Given the description of an element on the screen output the (x, y) to click on. 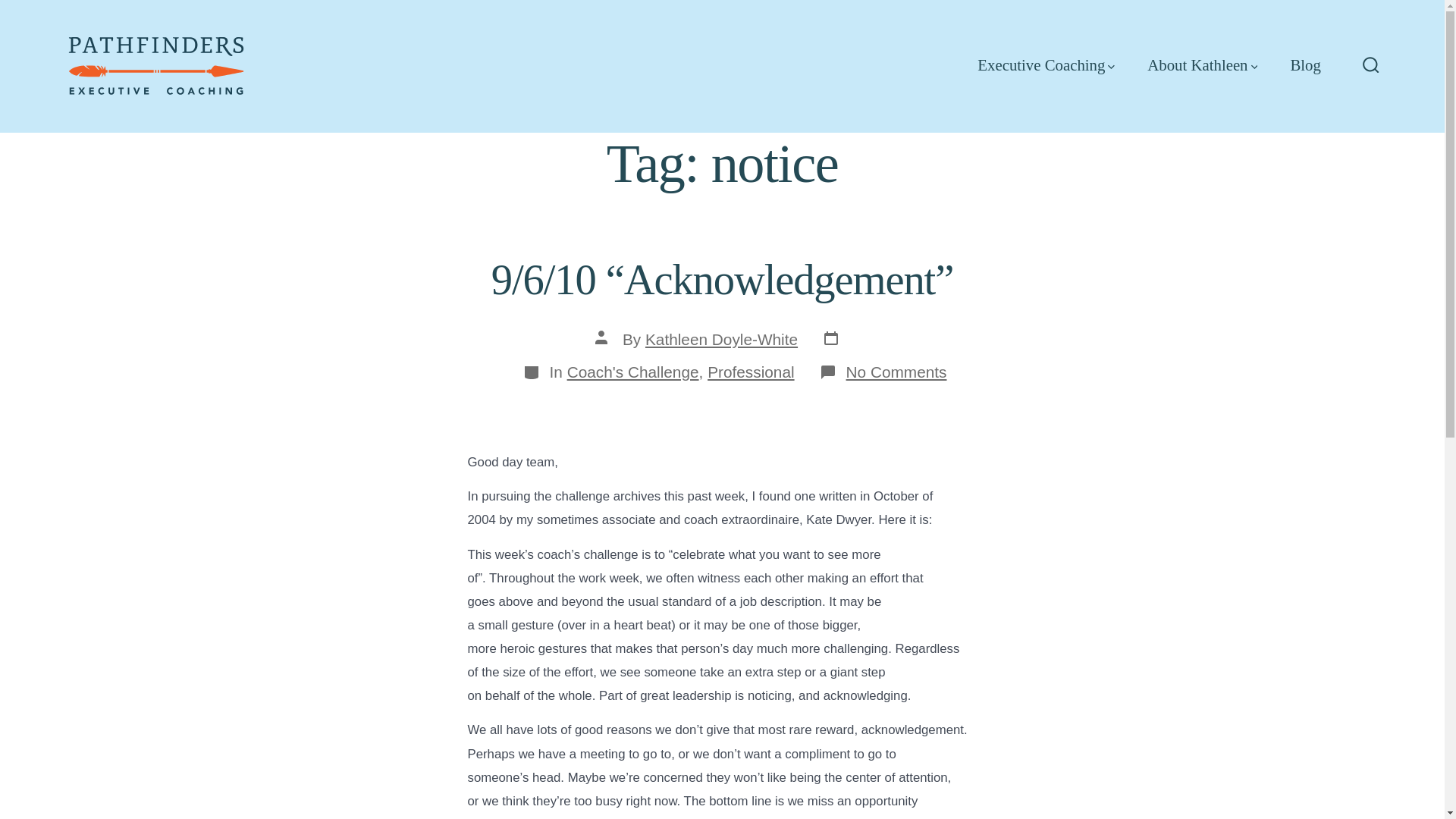
Executive Coaching (1045, 65)
Post date (835, 339)
Coach's Challenge (632, 371)
Search Toggle (1371, 66)
Kathleen Doyle-White (721, 339)
Blog (1305, 65)
Professional (750, 371)
About Kathleen (1202, 65)
